Given the description of an element on the screen output the (x, y) to click on. 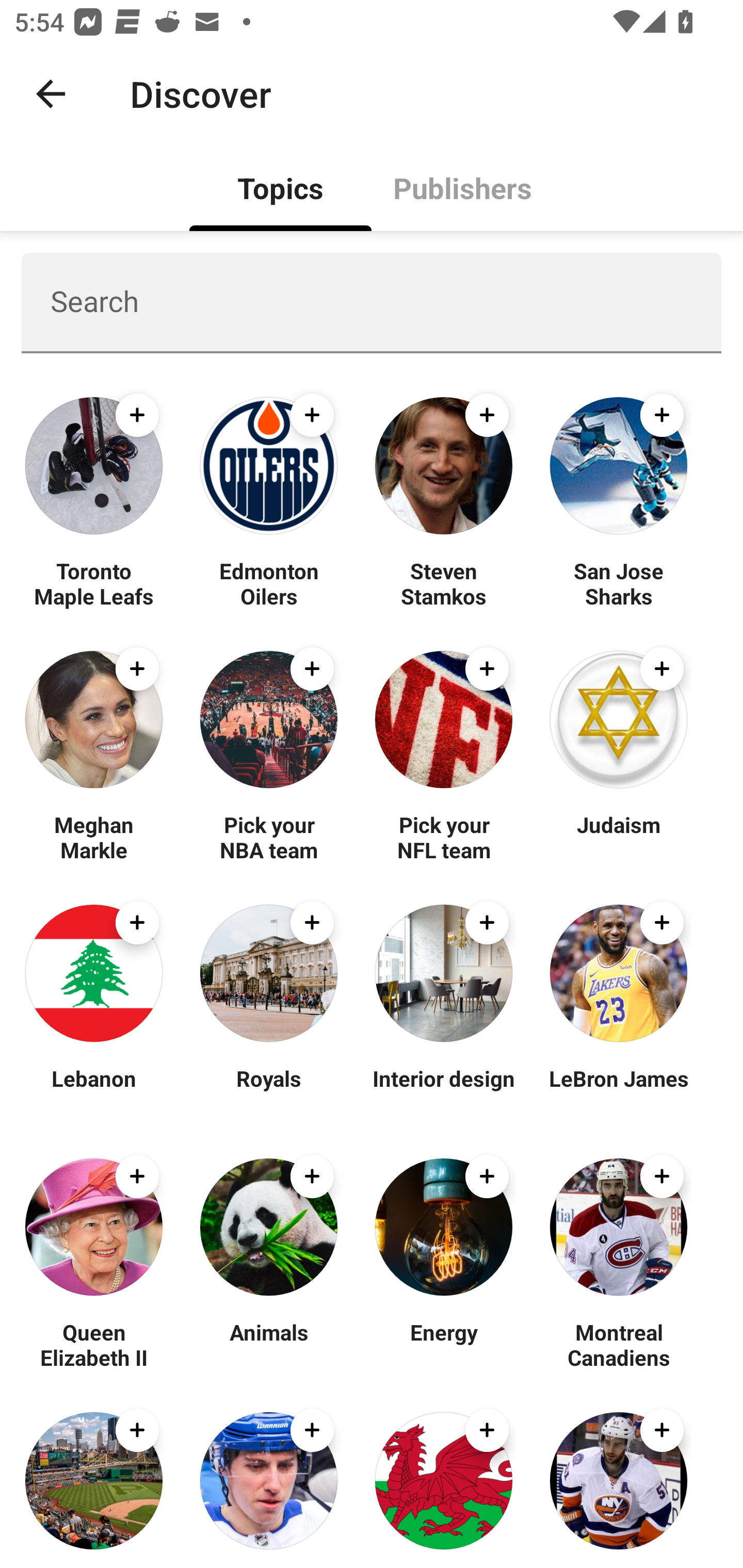
Publishers (462, 187)
Search (371, 302)
Toronto Maple Leafs (93, 582)
Edmonton Oilers (268, 582)
Steven Stamkos (443, 582)
San Jose Sharks (618, 582)
Meghan Markle (93, 836)
Pick your NBA team (268, 836)
Pick your NFL team (443, 836)
Judaism (618, 836)
Lebanon (93, 1090)
Royals (268, 1090)
Interior design (443, 1090)
LeBron James (618, 1090)
Queen Elizabeth II (93, 1344)
Animals (268, 1344)
Energy (443, 1344)
